Given the description of an element on the screen output the (x, y) to click on. 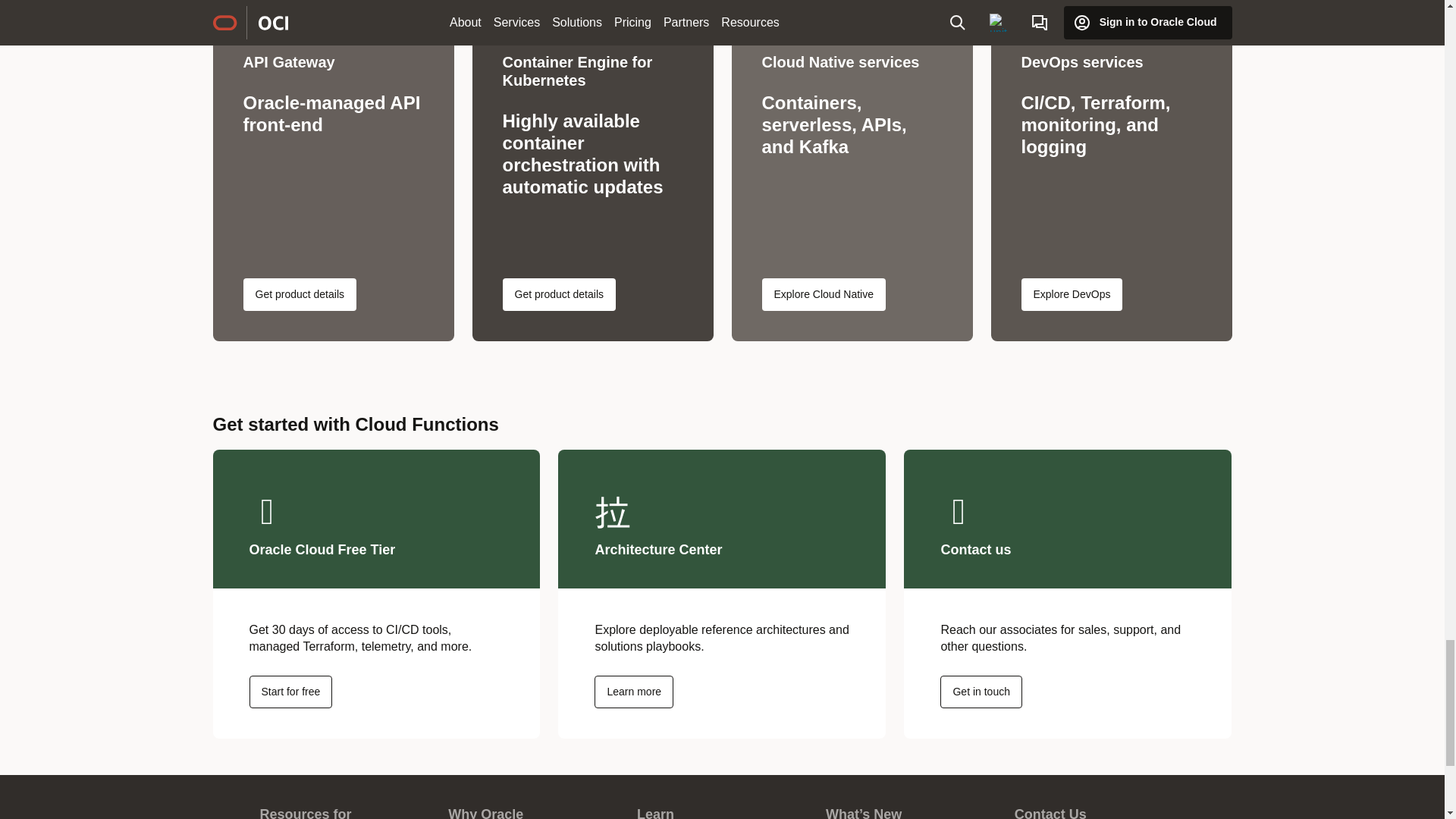
Contact Us Functions (981, 691)
